Given the description of an element on the screen output the (x, y) to click on. 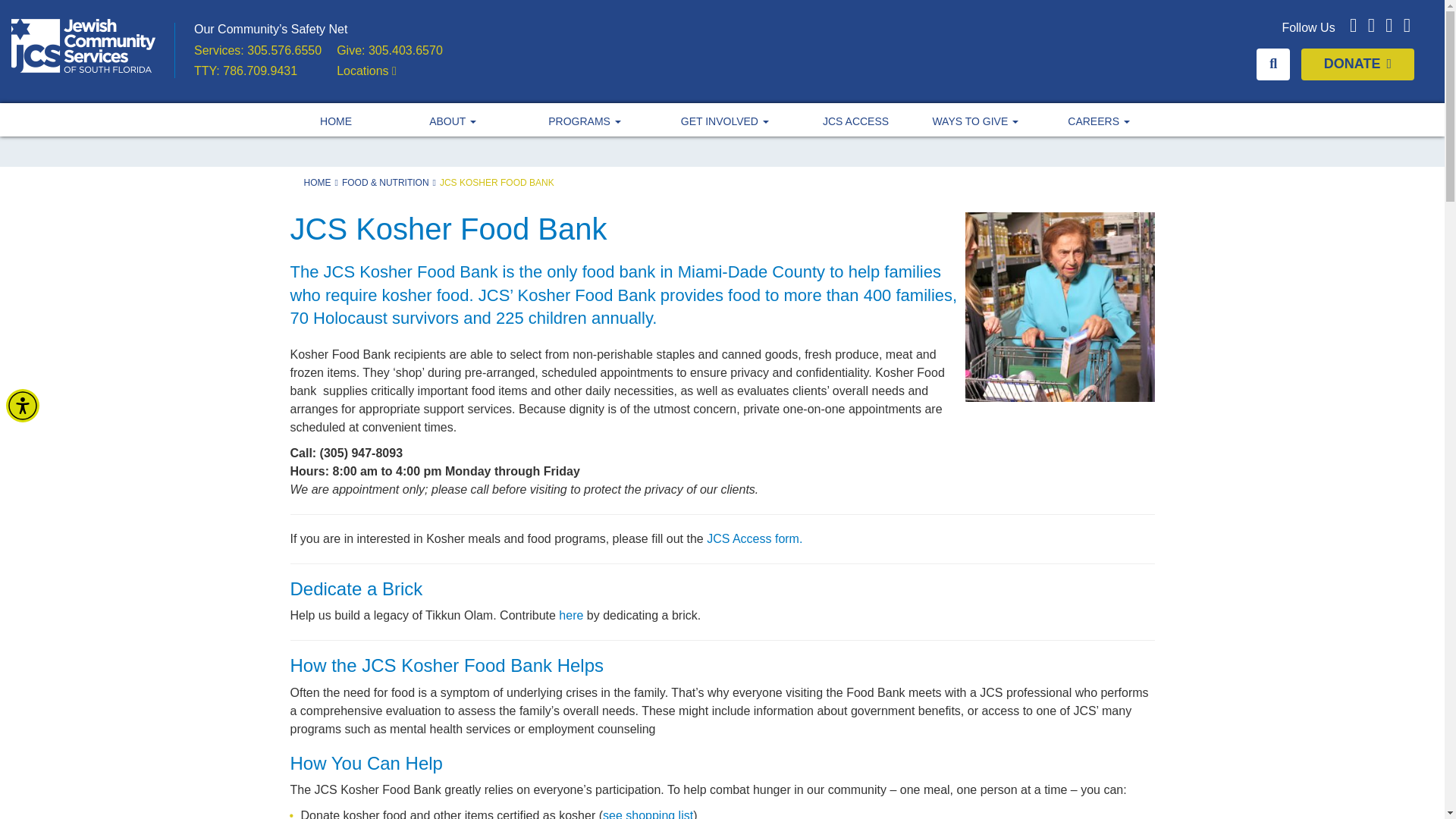
305.403.6570 (405, 50)
786.709.9431 (259, 70)
ABOUT (452, 120)
Home (336, 120)
305.576.6550 (284, 50)
Accessibility Menu (22, 405)
DONATE (1357, 64)
HOME (336, 120)
SEARCH (1273, 64)
Jewish Community Services South Florida (83, 45)
About (452, 120)
Locations (366, 70)
PROGRAMS (585, 120)
